Given the description of an element on the screen output the (x, y) to click on. 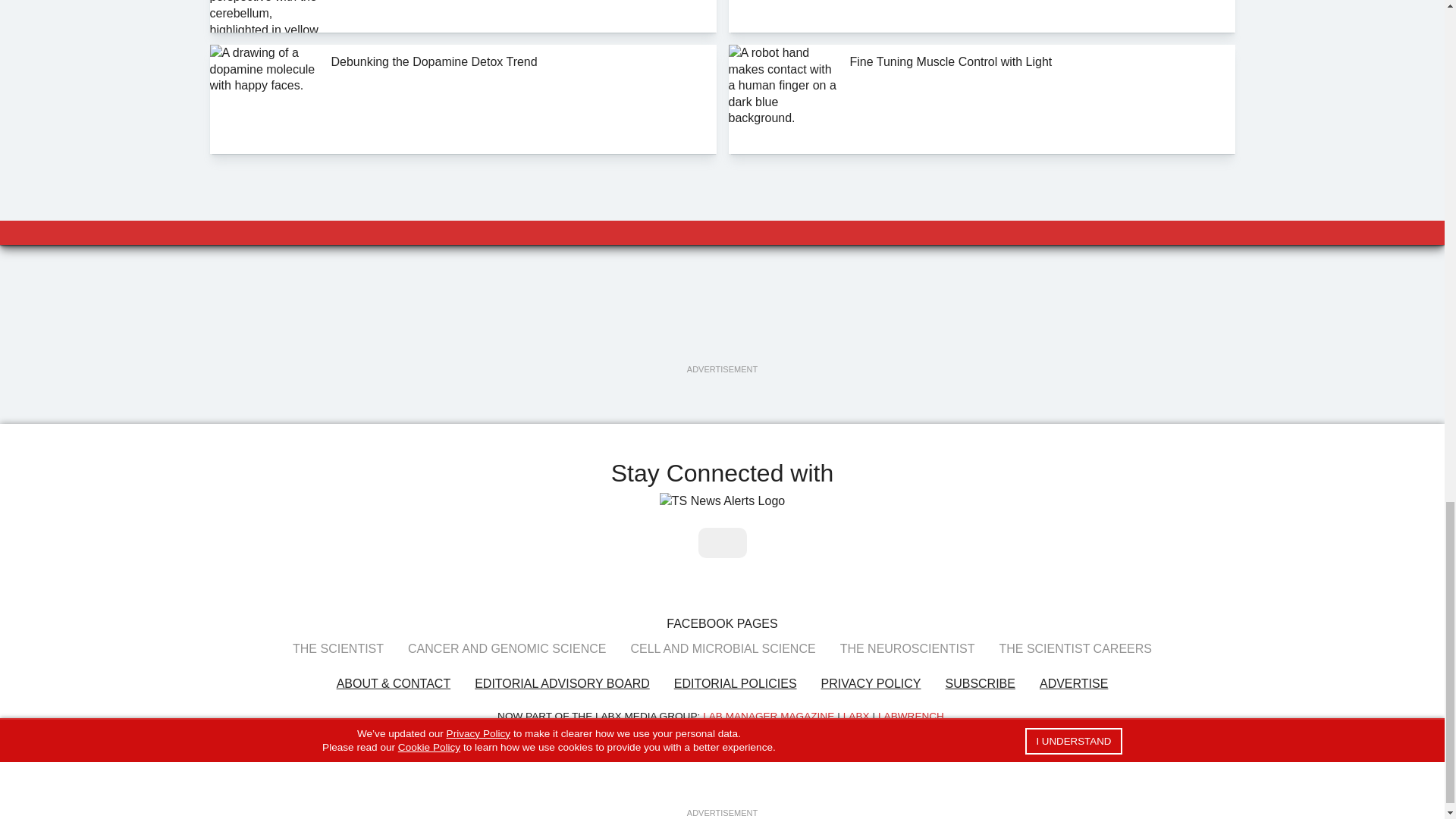
Neurons in culture (782, 16)
A drawing of a dopamine molecule with happy faces. (263, 99)
